Given the description of an element on the screen output the (x, y) to click on. 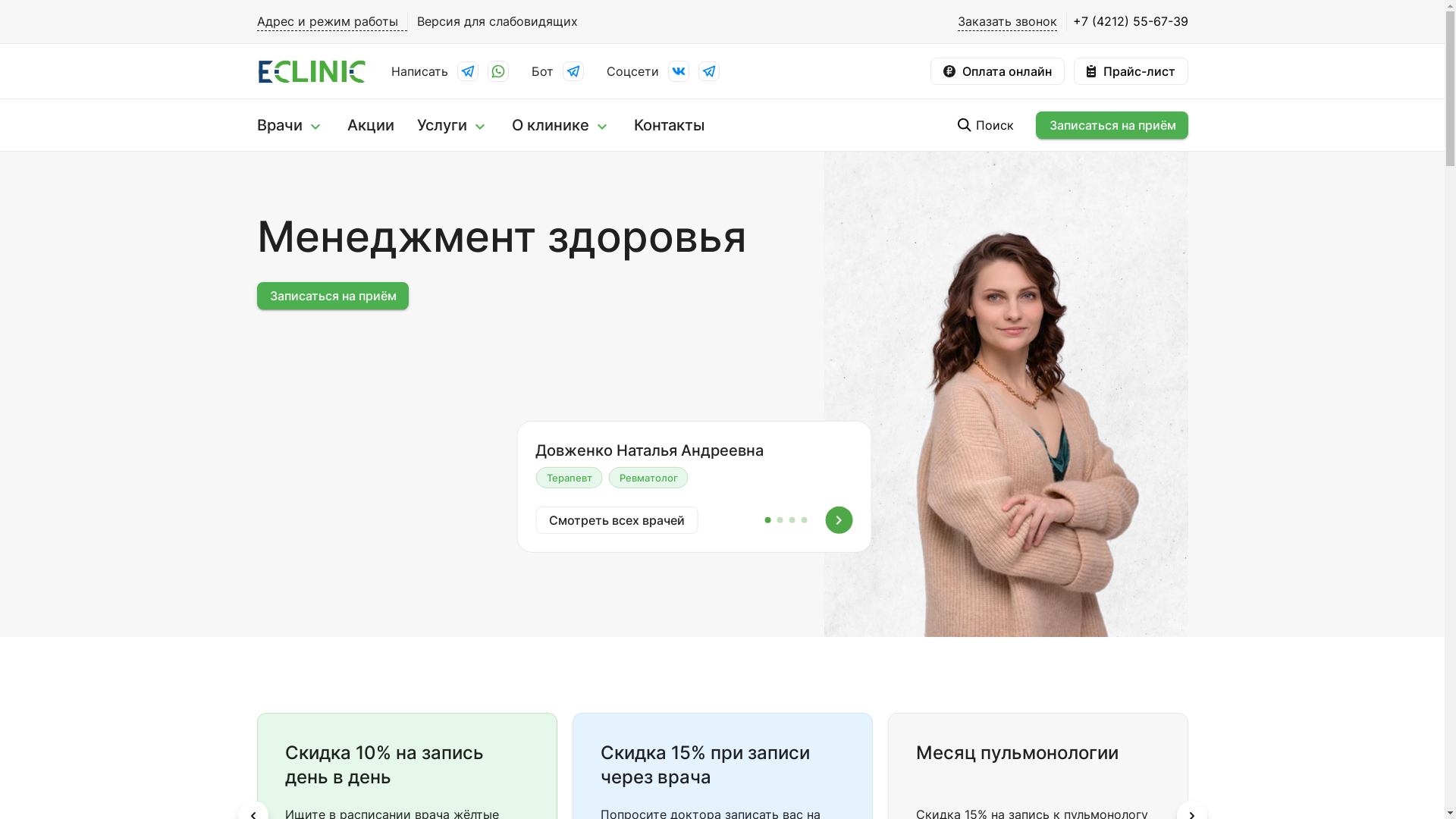
+7 (4212) 55-67-39 Element type: text (1127, 21)
